Given the description of an element on the screen output the (x, y) to click on. 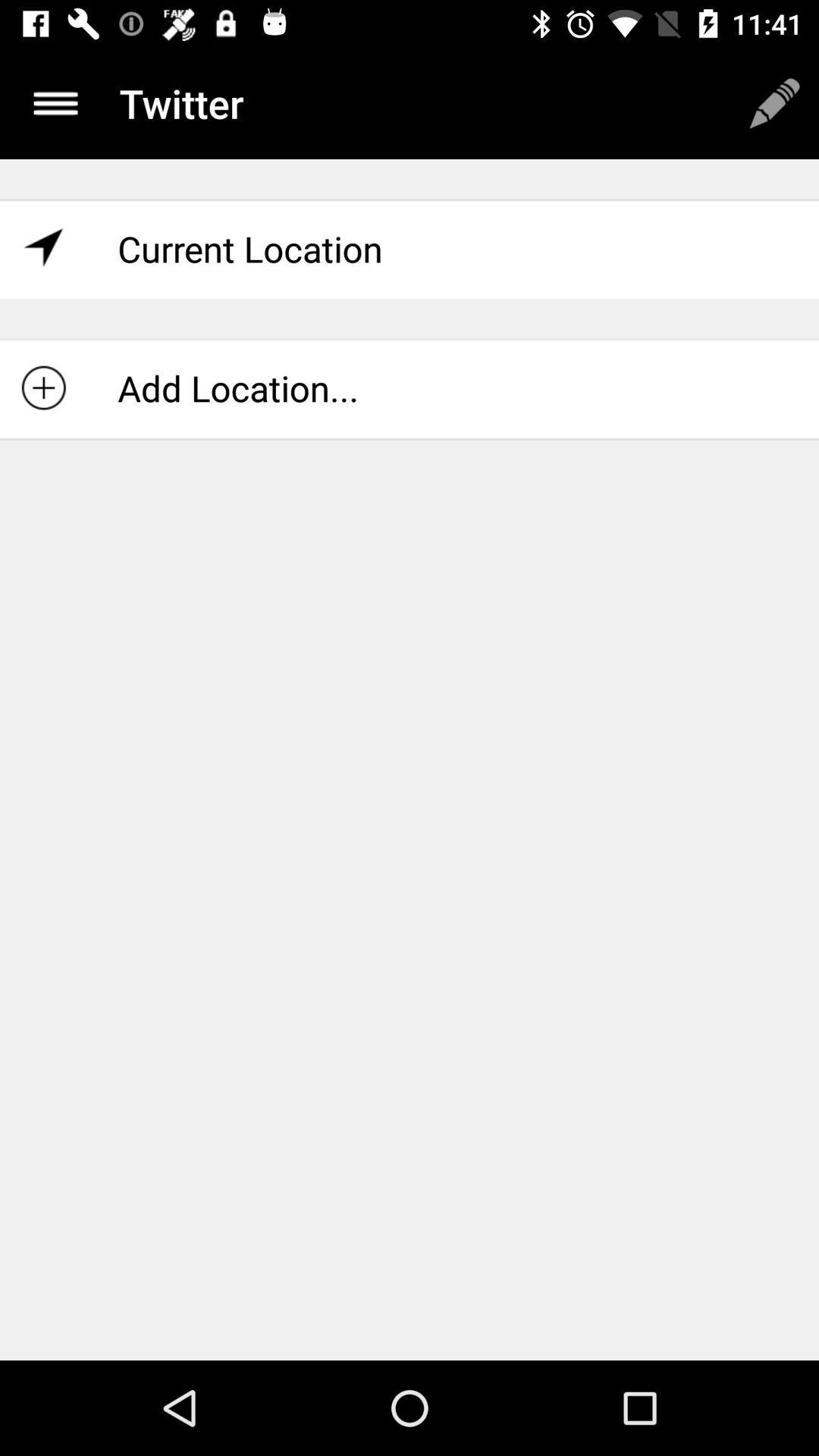
flip until add location... icon (409, 387)
